Given the description of an element on the screen output the (x, y) to click on. 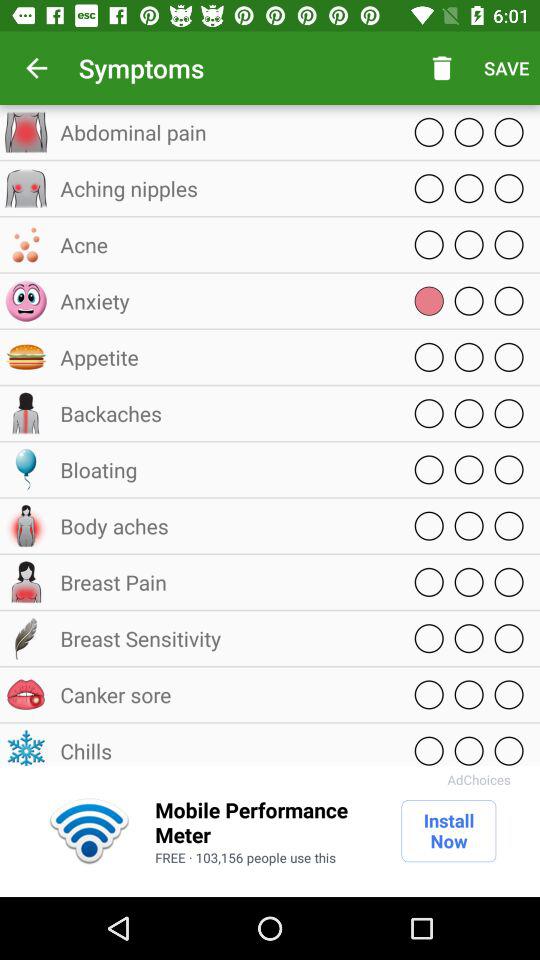
launch item below breast sensitivity (225, 694)
